Given the description of an element on the screen output the (x, y) to click on. 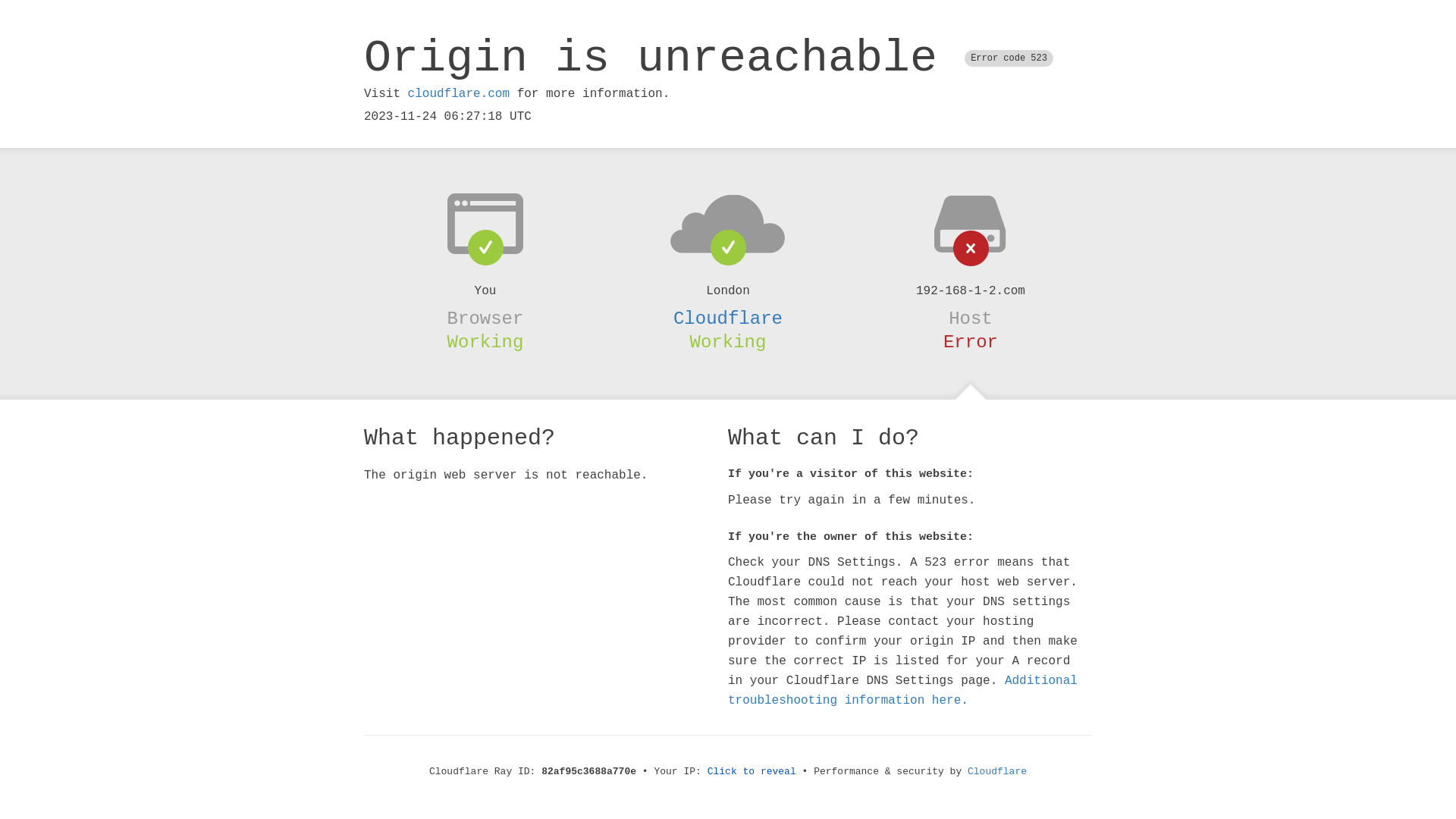
Cloudflare Element type: text (727, 318)
Click to reveal Element type: text (751, 771)
cloudflare.com Element type: text (458, 93)
Cloudflare Element type: text (996, 771)
Additional troubleshooting information here. Element type: text (902, 690)
